Given the description of an element on the screen output the (x, y) to click on. 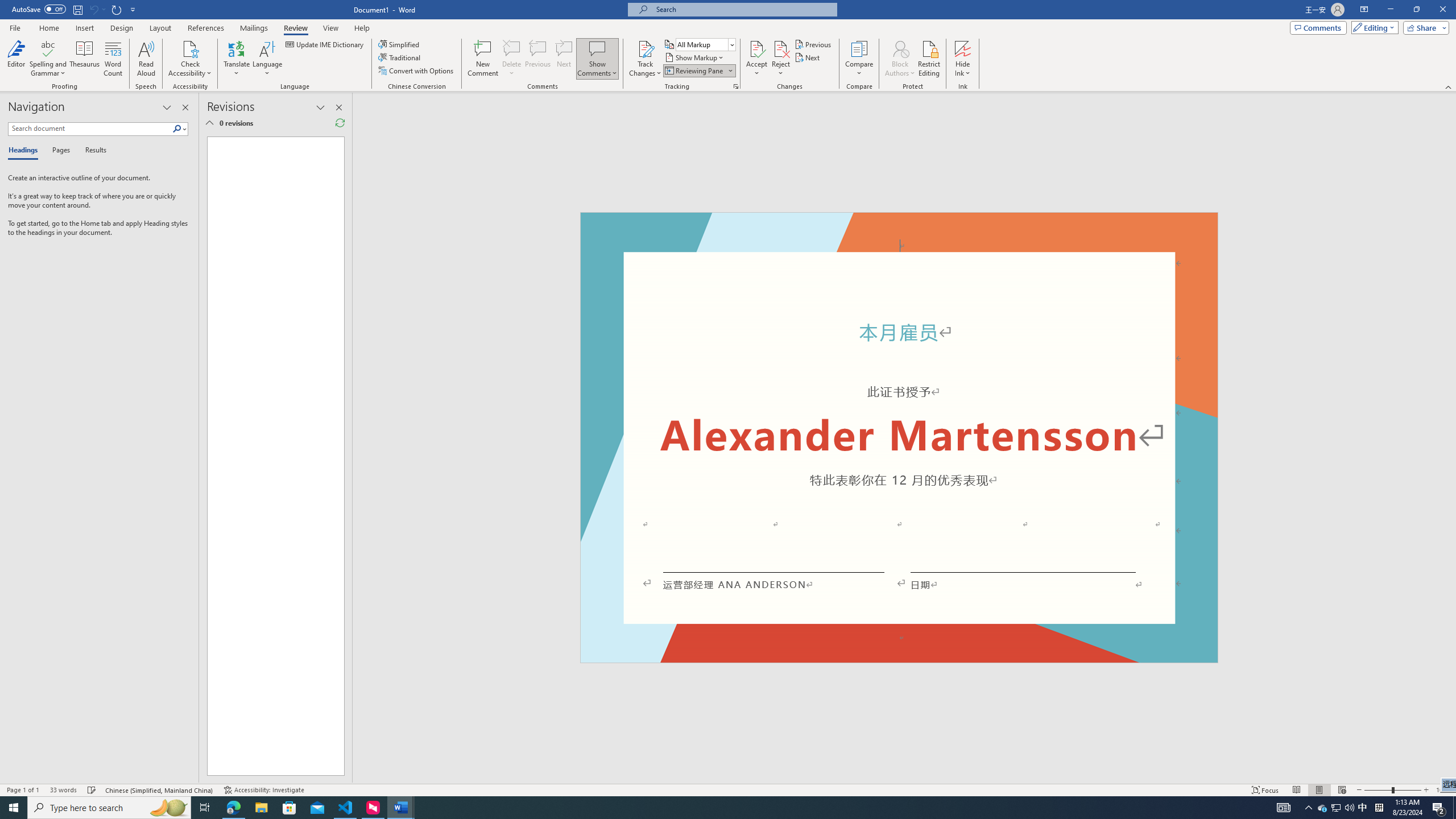
Track Changes (644, 48)
Change Tracking Options... (735, 85)
Editor (16, 58)
Display for Review (705, 44)
Show Comments (597, 58)
Previous (813, 44)
Read Aloud (145, 58)
Page Number Page 1 of 1 (22, 790)
Can't Undo (96, 9)
Hide Ink (962, 58)
Search document (89, 128)
Show Markup (695, 56)
